Given the description of an element on the screen output the (x, y) to click on. 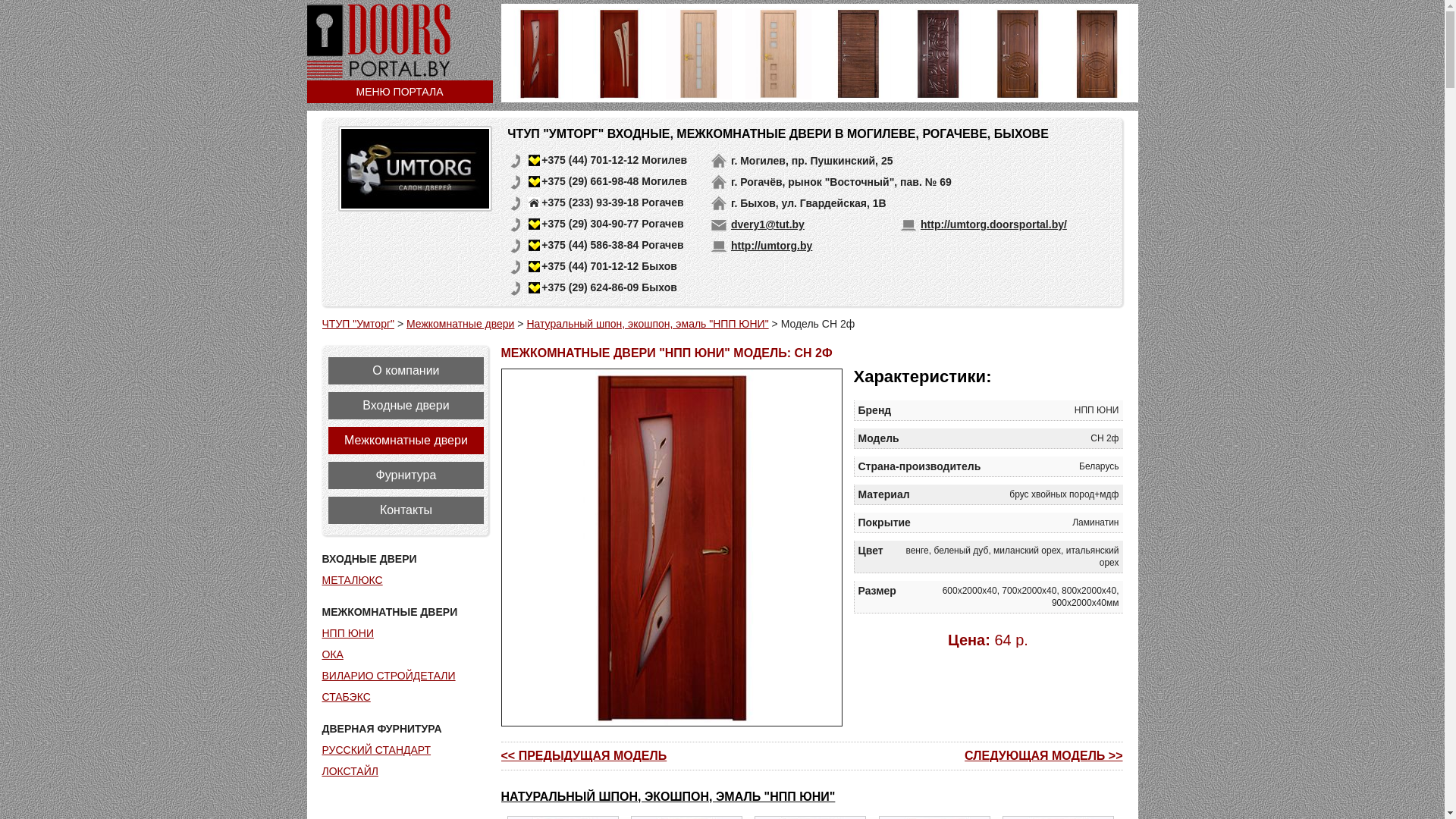
http://umtorg.by Element type: text (771, 245)
dvery1@tut.by Element type: text (767, 224)
http://umtorg.doorsportal.by/ Element type: text (993, 224)
